Given the description of an element on the screen output the (x, y) to click on. 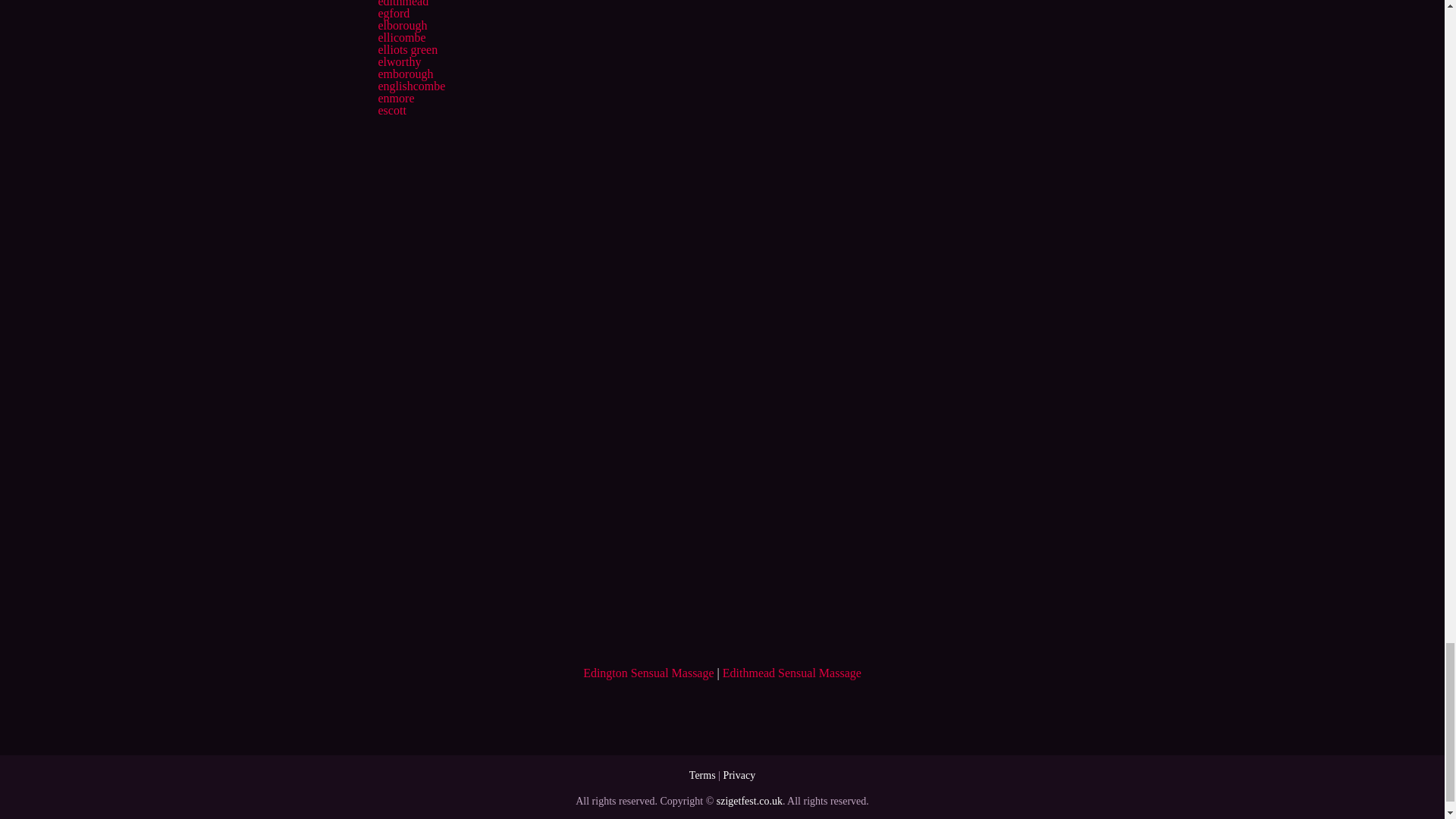
egford (393, 12)
emborough (404, 73)
elworthy (398, 61)
ellicombe (401, 37)
szigetfest.co.uk (749, 800)
edithmead (402, 3)
Terms (702, 775)
escott (391, 110)
elliots green (407, 49)
englishcombe (411, 85)
Edington Sensual Massage (648, 672)
Privacy (738, 775)
elborough (401, 24)
Terms (702, 775)
enmore (395, 97)
